Given the description of an element on the screen output the (x, y) to click on. 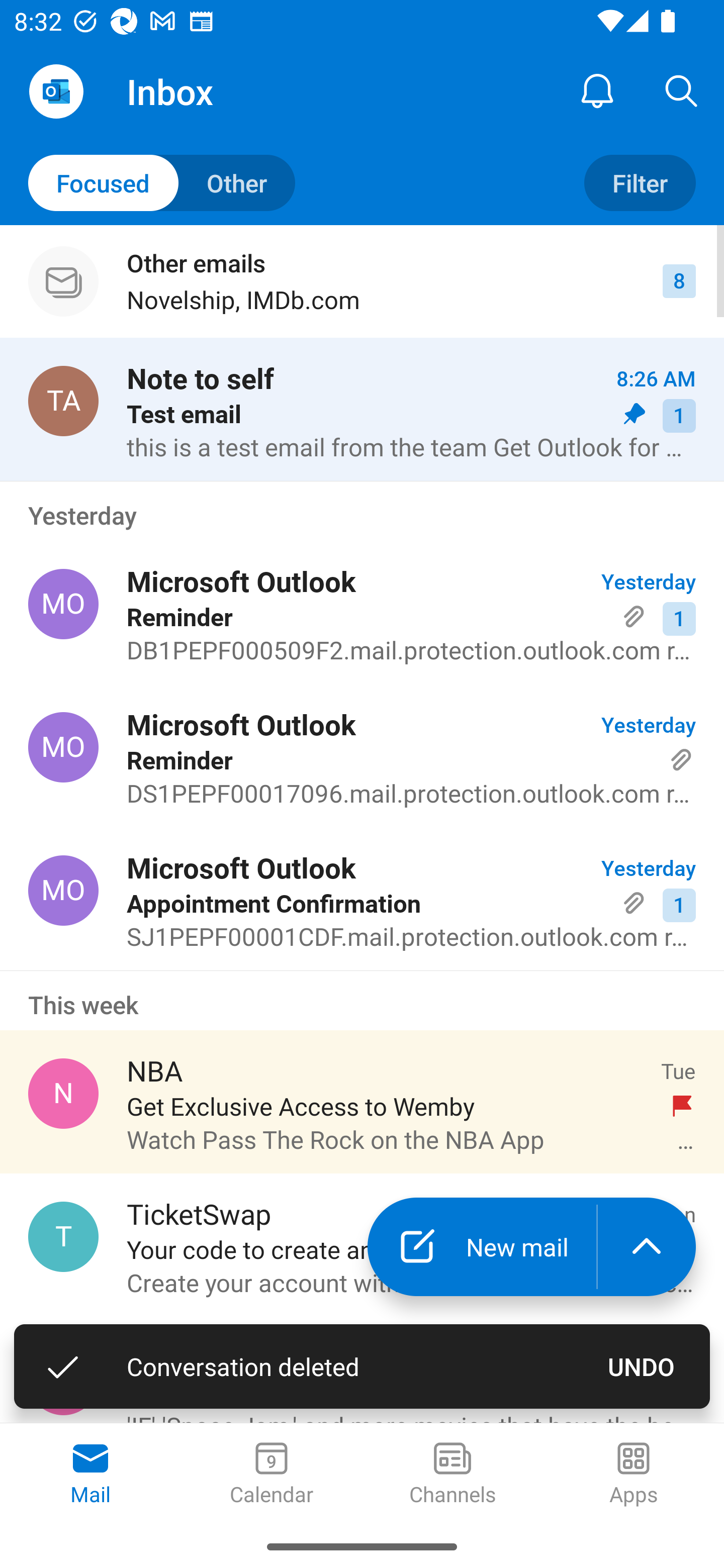
Notification Center (597, 90)
Search, ,  (681, 90)
Open Navigation Drawer (55, 91)
Toggle to other mails (161, 183)
Filter (639, 183)
Other emails Novelship, IMDb.com 8 (362, 281)
Test Appium, testappium002@outlook.com (63, 400)
NBA, NBA@email.nba.com (63, 1093)
New mail (481, 1246)
launch the extended action menu (646, 1246)
TicketSwap, info@ticketswap.com (63, 1236)
UNDO (641, 1366)
IMDb.com, do-not-reply@imdb.com (63, 1380)
Calendar (271, 1474)
Channels (452, 1474)
Apps (633, 1474)
